Given the description of an element on the screen output the (x, y) to click on. 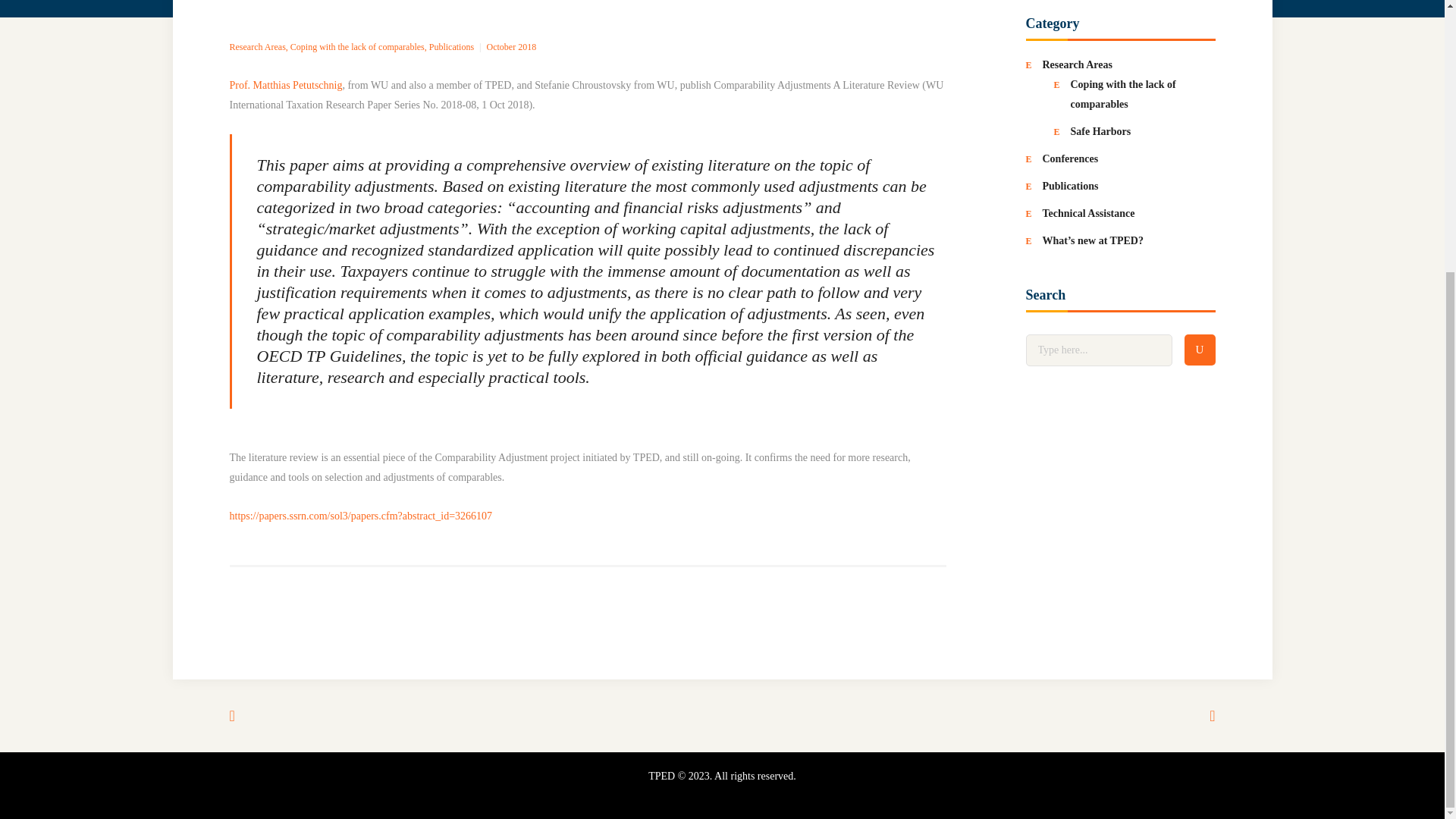
Coping with the lack of comparables (1123, 93)
Safe Harbors (1100, 131)
Conferences (1069, 158)
Publications (451, 46)
Coping with the lack of comparables (357, 46)
U (1200, 349)
Research Areas (256, 46)
Publications (1069, 185)
Prof. Matthias Petutschnig (285, 84)
U (1200, 349)
Research Areas (1077, 64)
Technical Assistance (1088, 213)
